Given the description of an element on the screen output the (x, y) to click on. 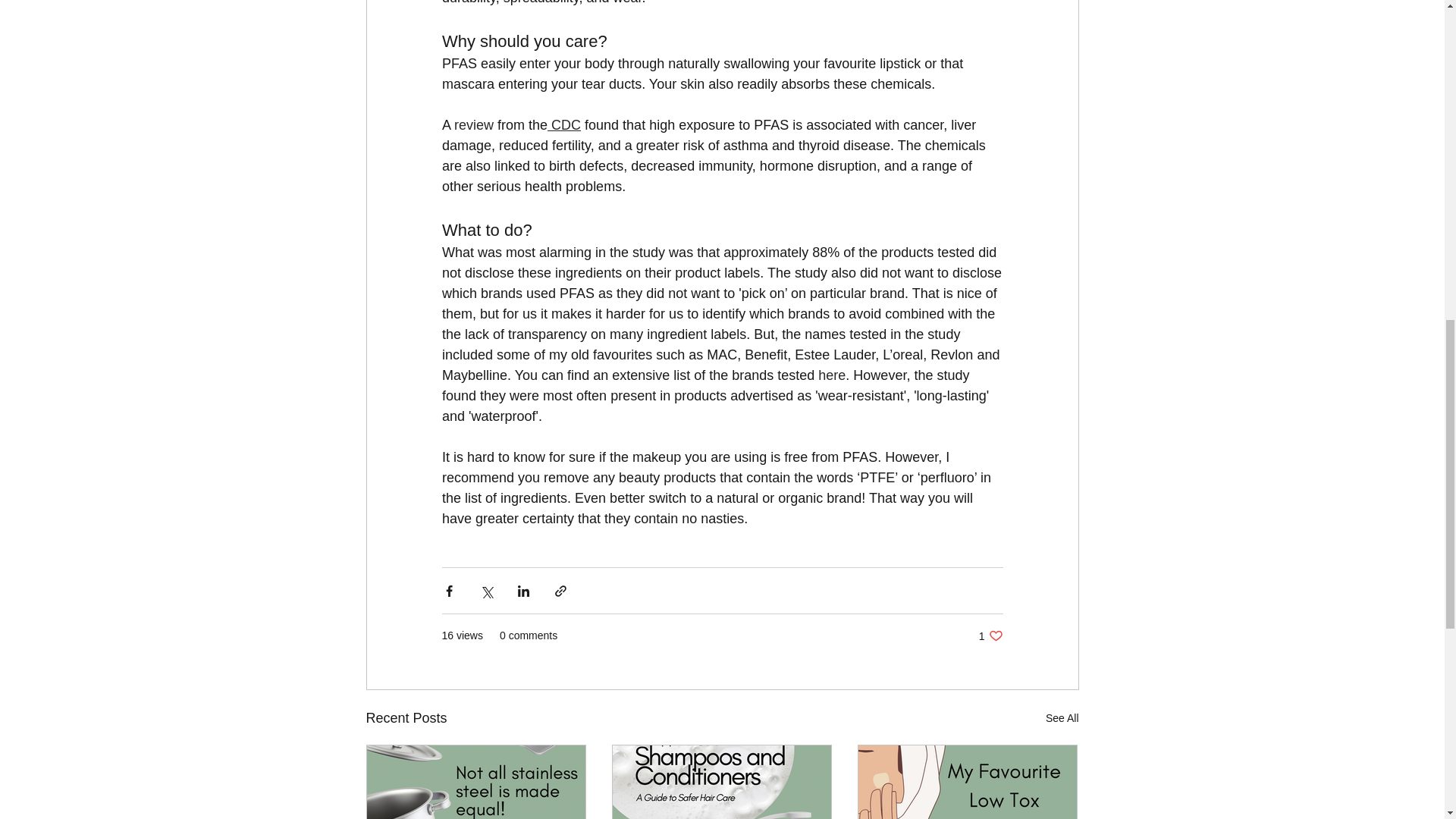
 CDC (990, 635)
See All (563, 124)
here (1061, 718)
review (831, 375)
